Given the description of an element on the screen output the (x, y) to click on. 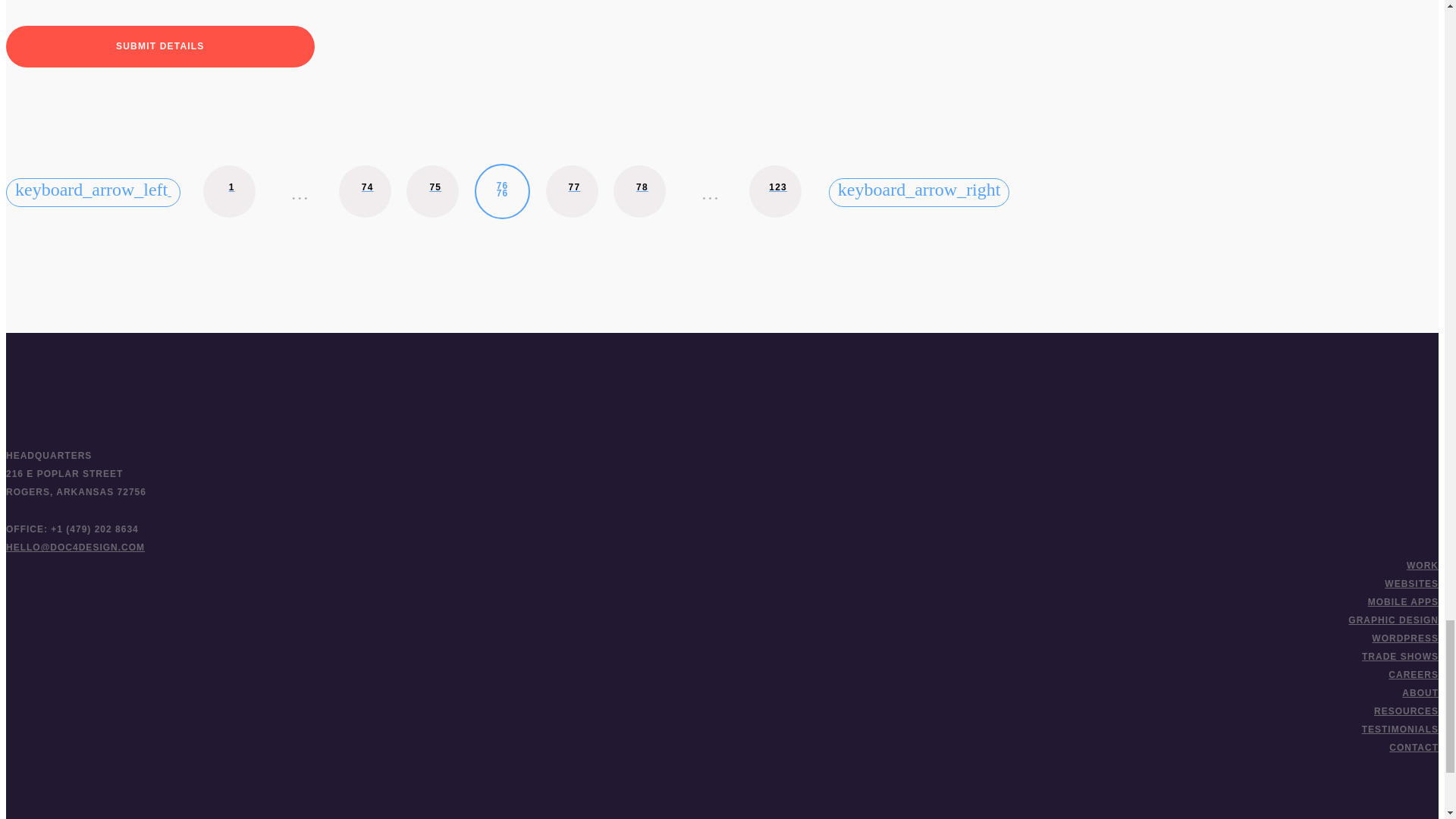
75 (432, 191)
Submit Details (159, 45)
77 (572, 191)
74 (365, 191)
123 (775, 191)
78 (638, 191)
Submit Details (501, 191)
1 (159, 45)
